Given the description of an element on the screen output the (x, y) to click on. 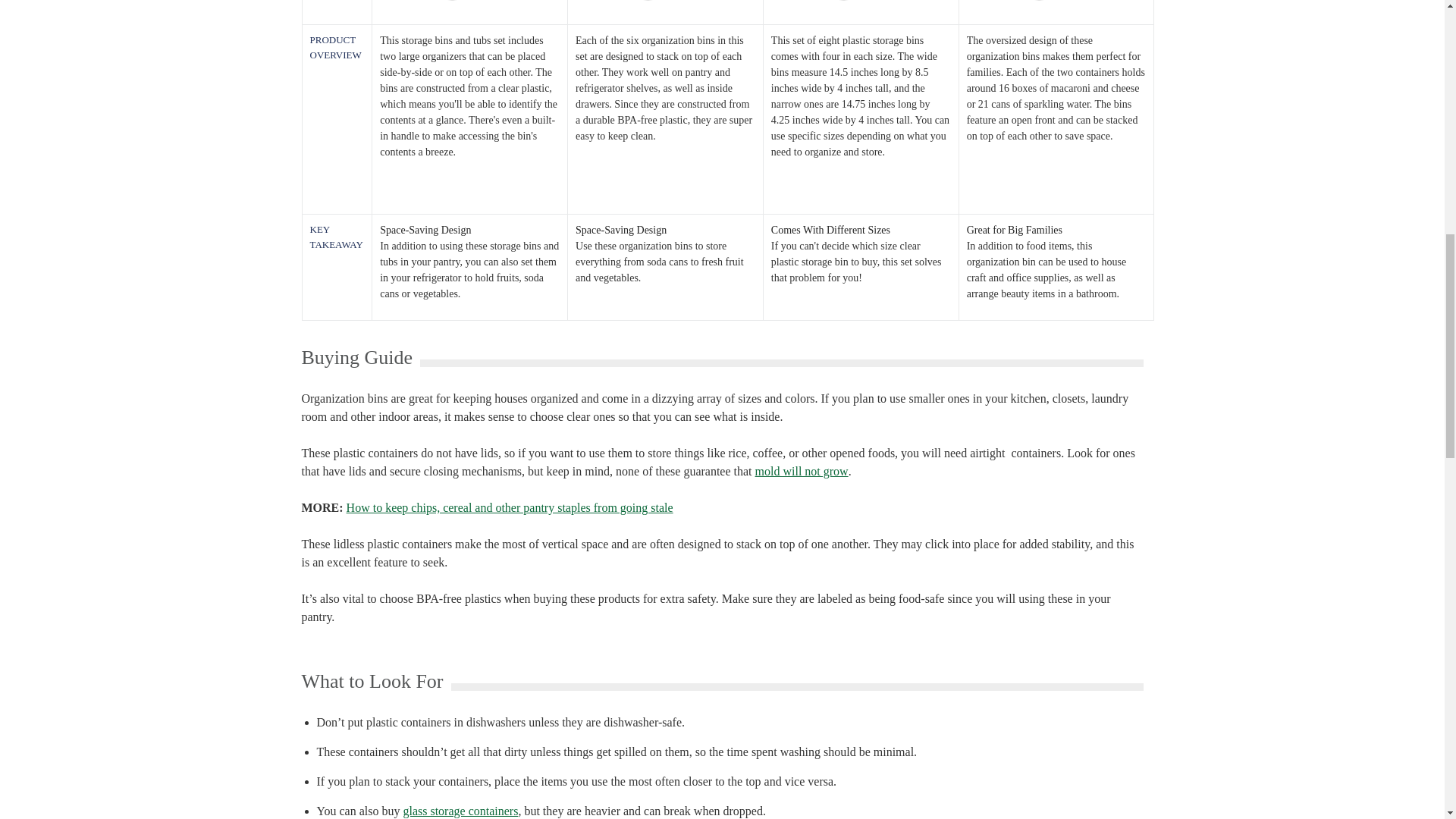
mold will not grow (801, 471)
Space-Saving Design (469, 229)
Comes With Different Sizes (860, 229)
glass storage containers (460, 810)
Great for Big Families (1056, 229)
Space-Saving Design (665, 229)
